Given the description of an element on the screen output the (x, y) to click on. 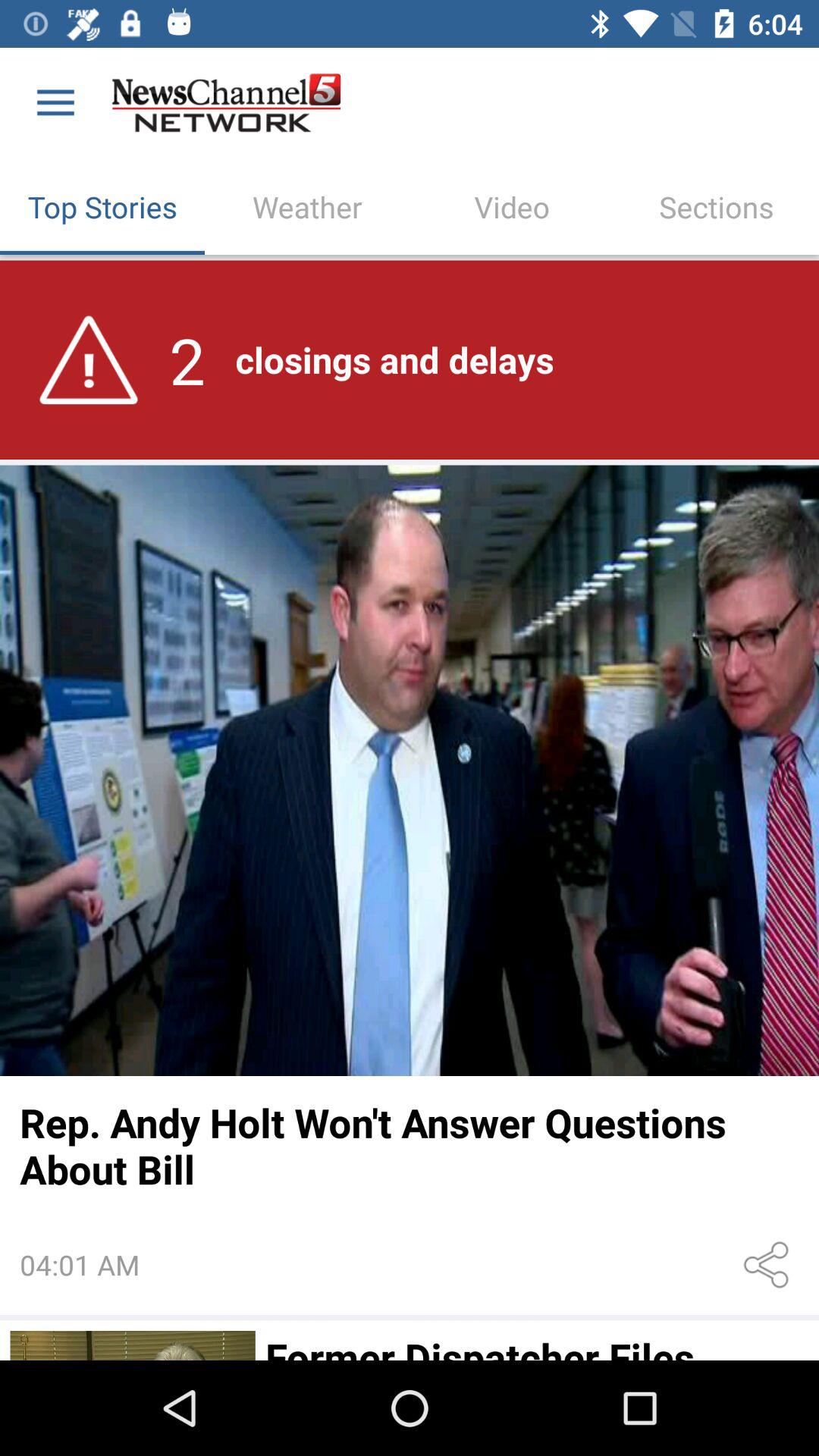
launch the item below the rep andy holt item (769, 1265)
